Given the description of an element on the screen output the (x, y) to click on. 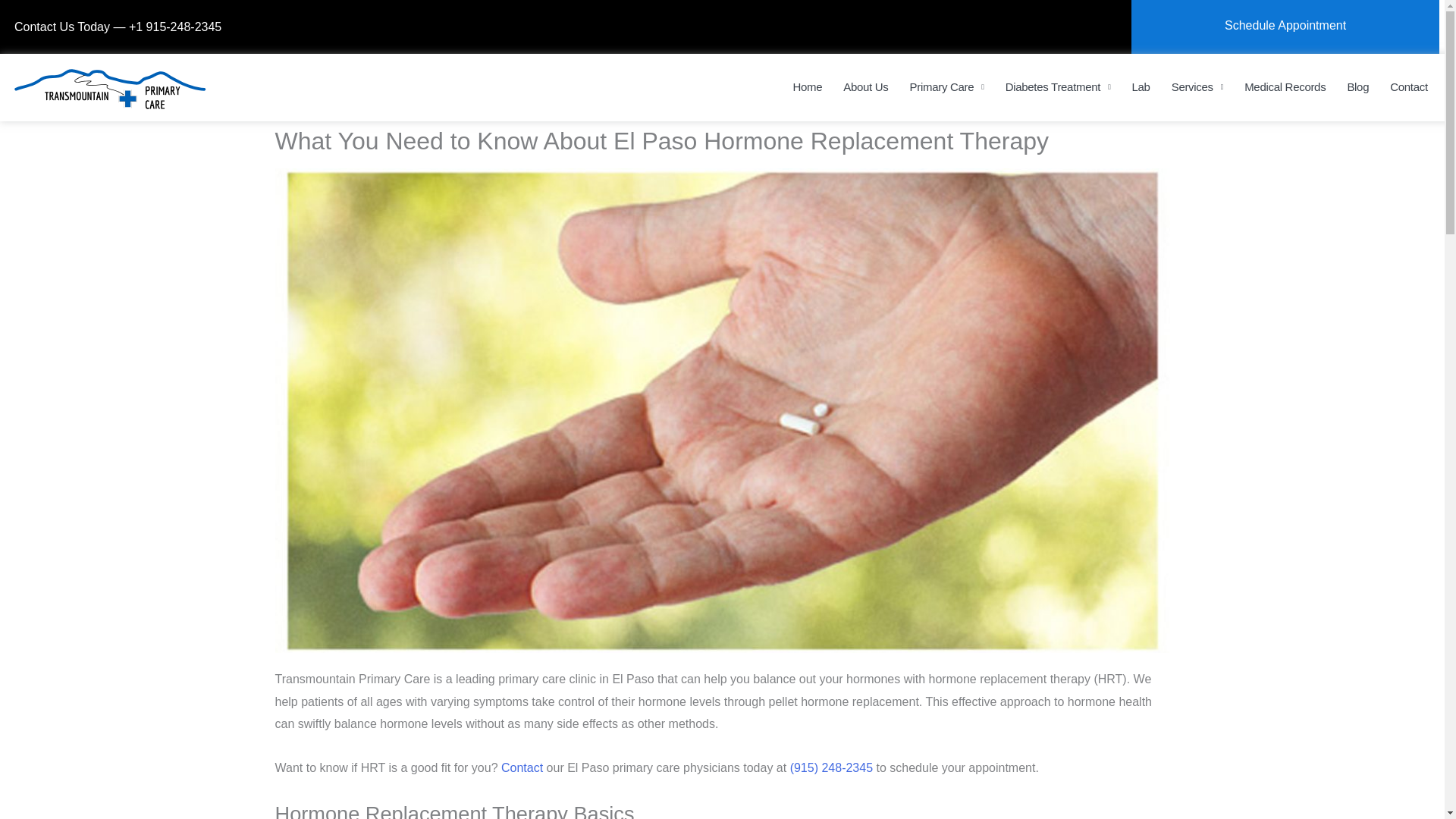
Schedule Appointment (1284, 24)
